Given the description of an element on the screen output the (x, y) to click on. 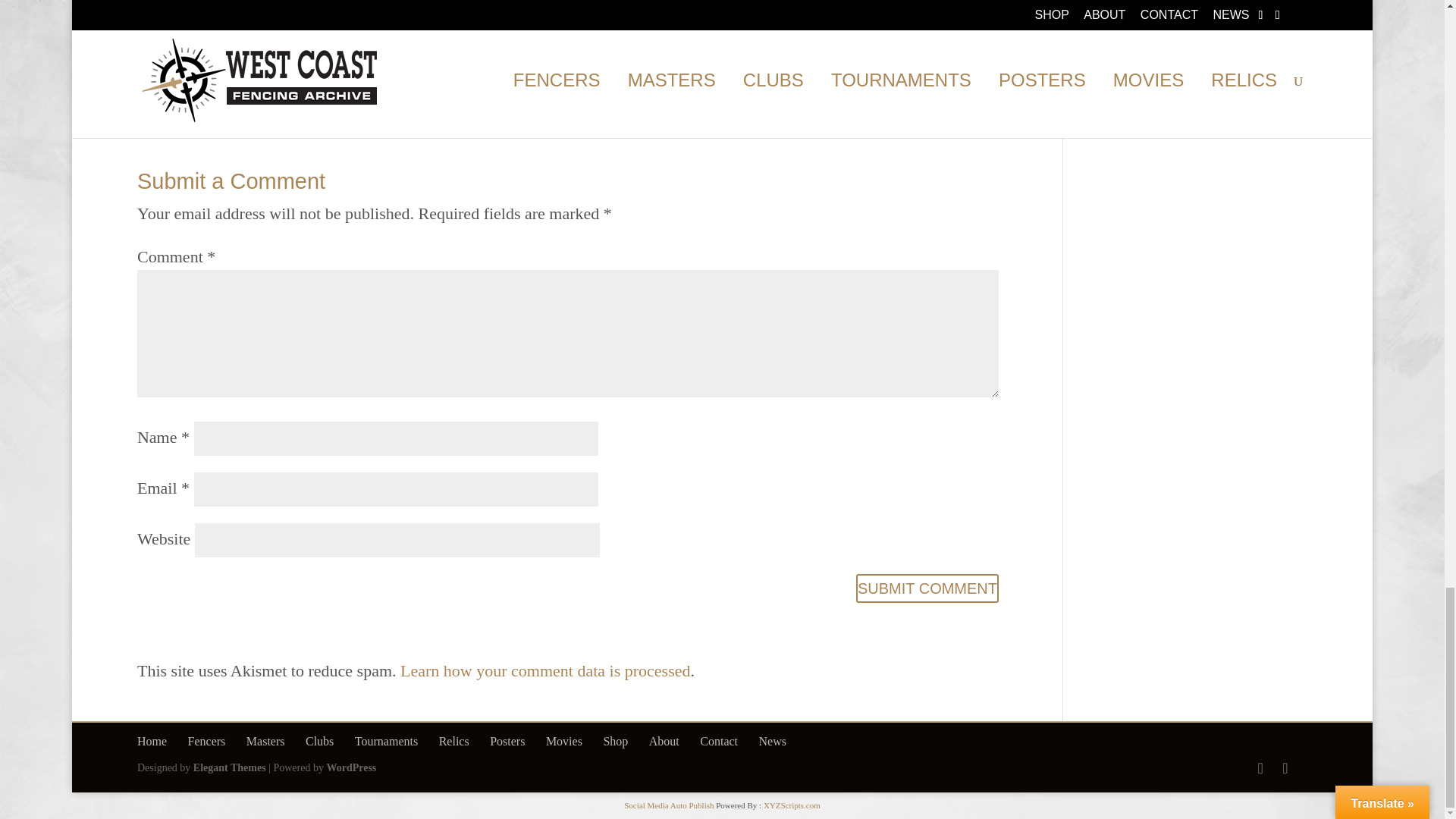
Social Media Auto Publish (668, 804)
Premium WordPress Themes (229, 767)
Submit Comment (927, 588)
Submit Comment (927, 588)
Learn how your comment data is processed (545, 670)
